Given the description of an element on the screen output the (x, y) to click on. 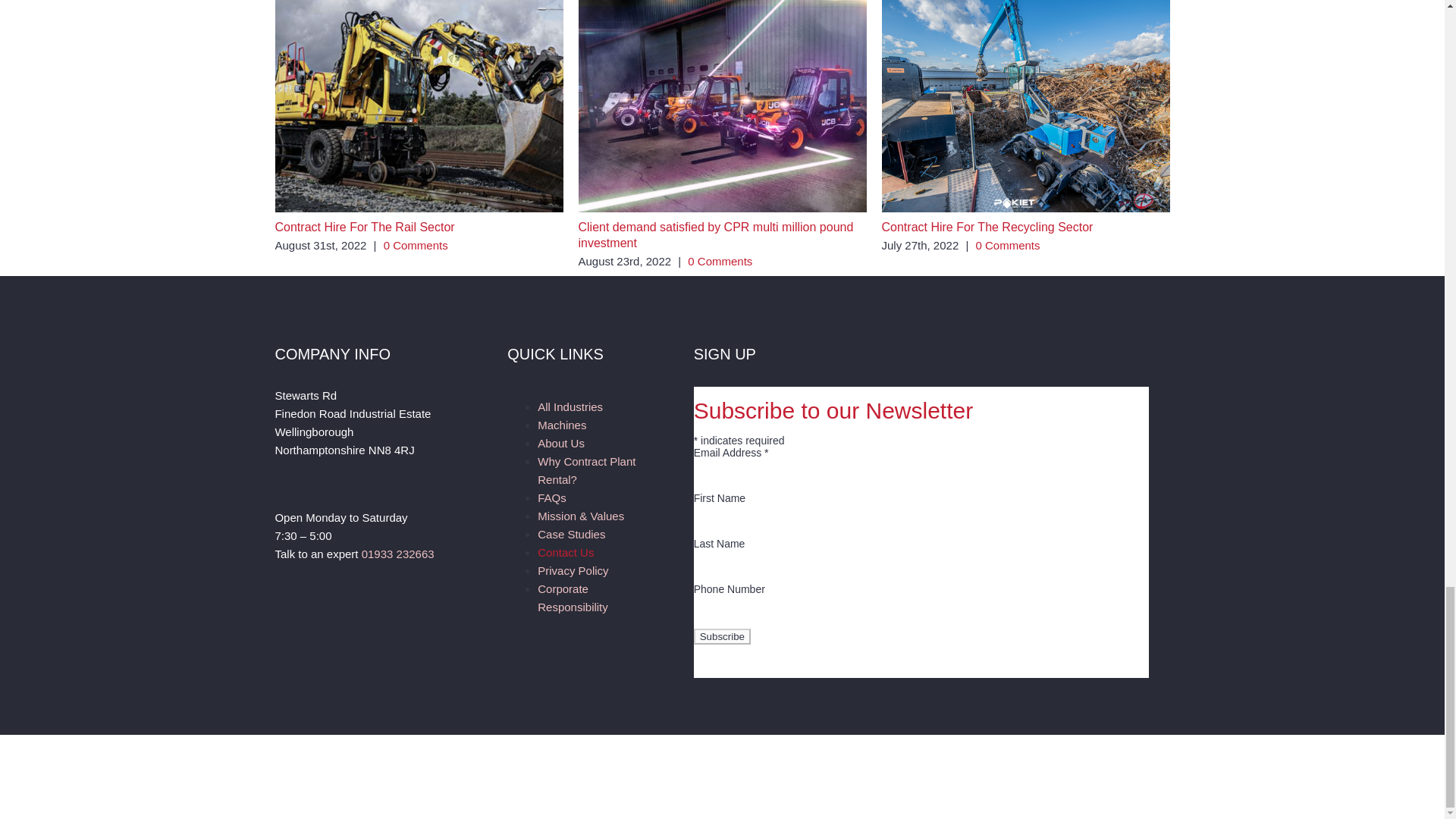
Subscribe (722, 636)
Contract Hire For The Rail Sector (364, 226)
